Given the description of an element on the screen output the (x, y) to click on. 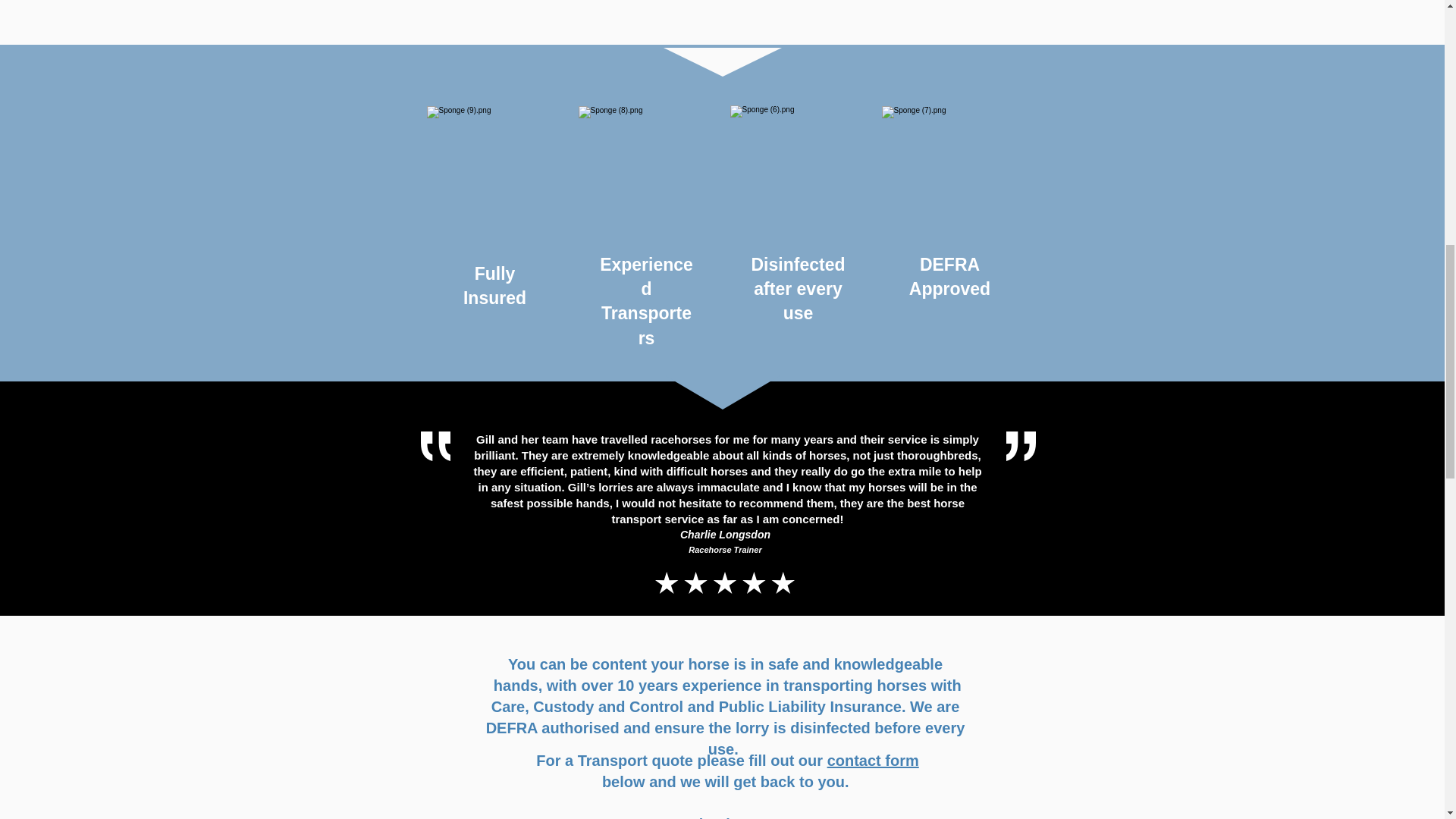
contact form (872, 760)
